Given the description of an element on the screen output the (x, y) to click on. 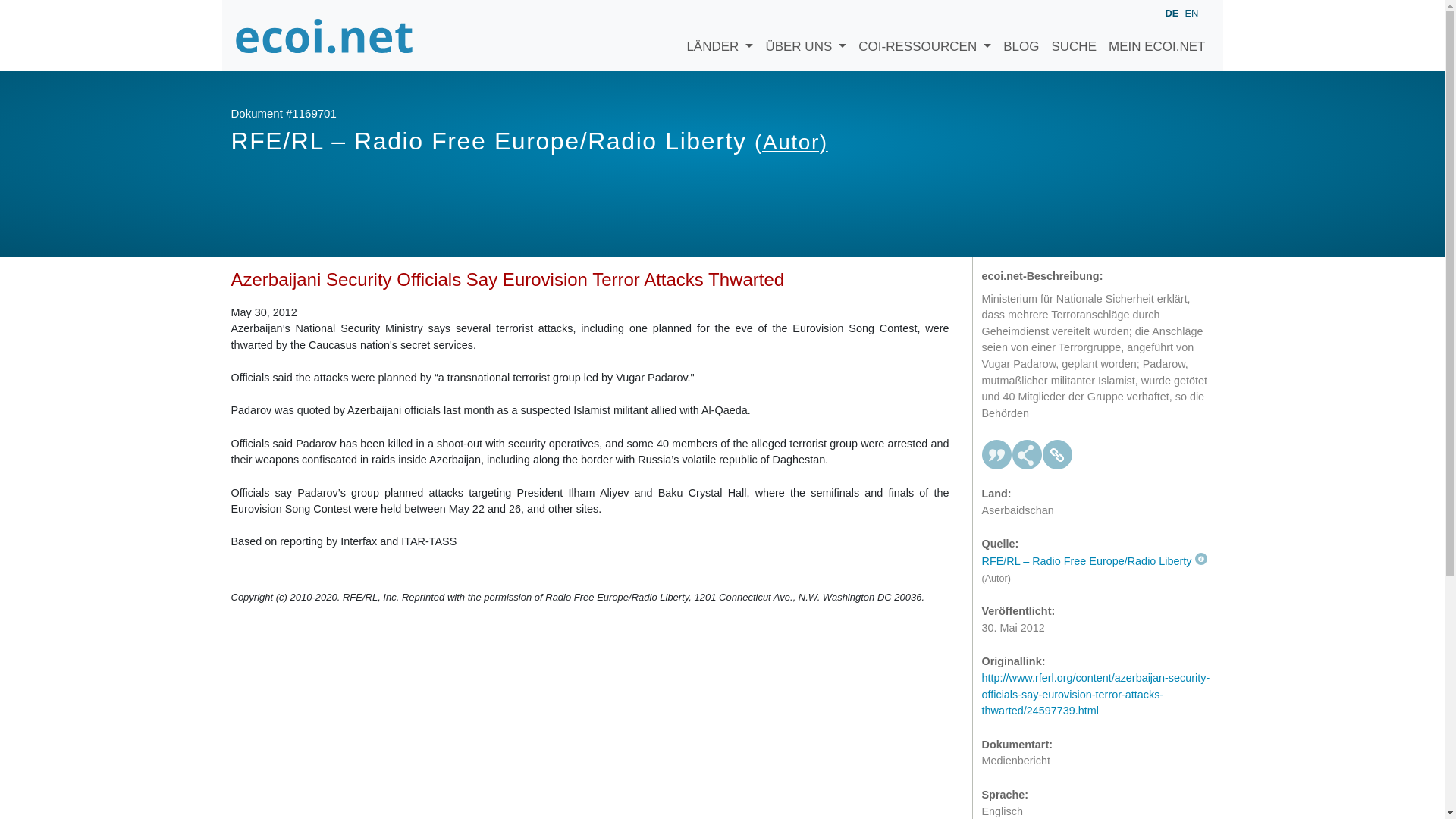
Deutsch (1170, 13)
BLOG (1021, 35)
Zitieren als (996, 454)
Permalink (1056, 454)
Teilen (1026, 454)
Zur Startseite von ecoi.net gehen (323, 35)
MEIN ECOI.NET (1156, 35)
SUCHE (1073, 35)
Englisch (1190, 12)
EN (1190, 12)
